Given the description of an element on the screen output the (x, y) to click on. 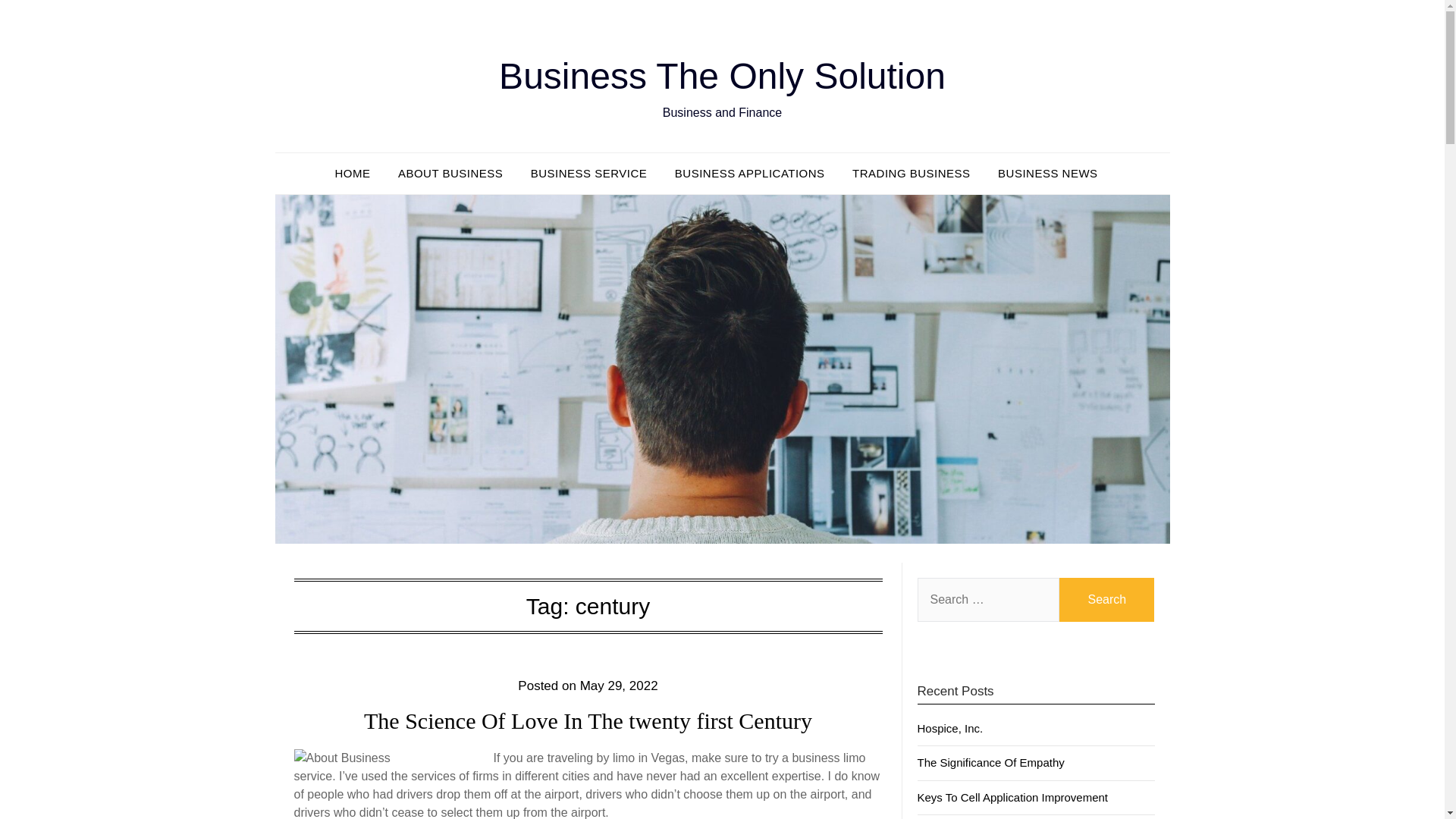
BUSINESS SERVICE (588, 173)
May 29, 2022 (618, 685)
BUSINESS NEWS (1047, 173)
HOME (357, 173)
Search (1106, 599)
The Significance Of Empathy (990, 762)
Keys To Cell Application Improvement (1012, 797)
Search (1106, 599)
TRADING BUSINESS (911, 173)
BUSINESS APPLICATIONS (749, 173)
